Given the description of an element on the screen output the (x, y) to click on. 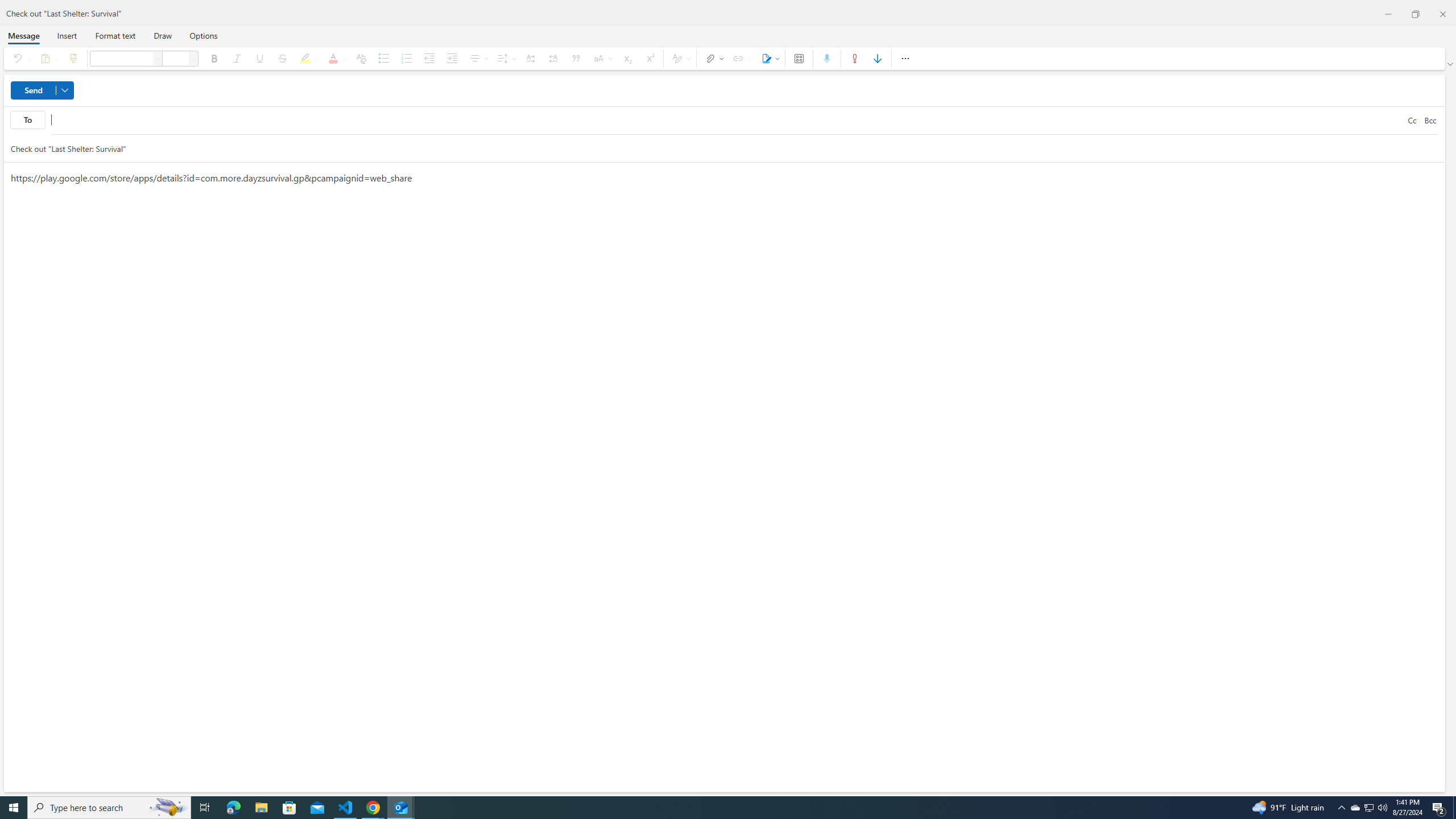
Signature (768, 58)
Quote (576, 58)
More options (905, 58)
Low importance (877, 58)
To (27, 119)
Bold (213, 58)
Decrease indent (429, 58)
Cc (1412, 119)
Draw (162, 35)
Font size (193, 58)
Bcc (1430, 119)
Left-to-right (530, 58)
Align (477, 58)
Spacing (505, 58)
